Given the description of an element on the screen output the (x, y) to click on. 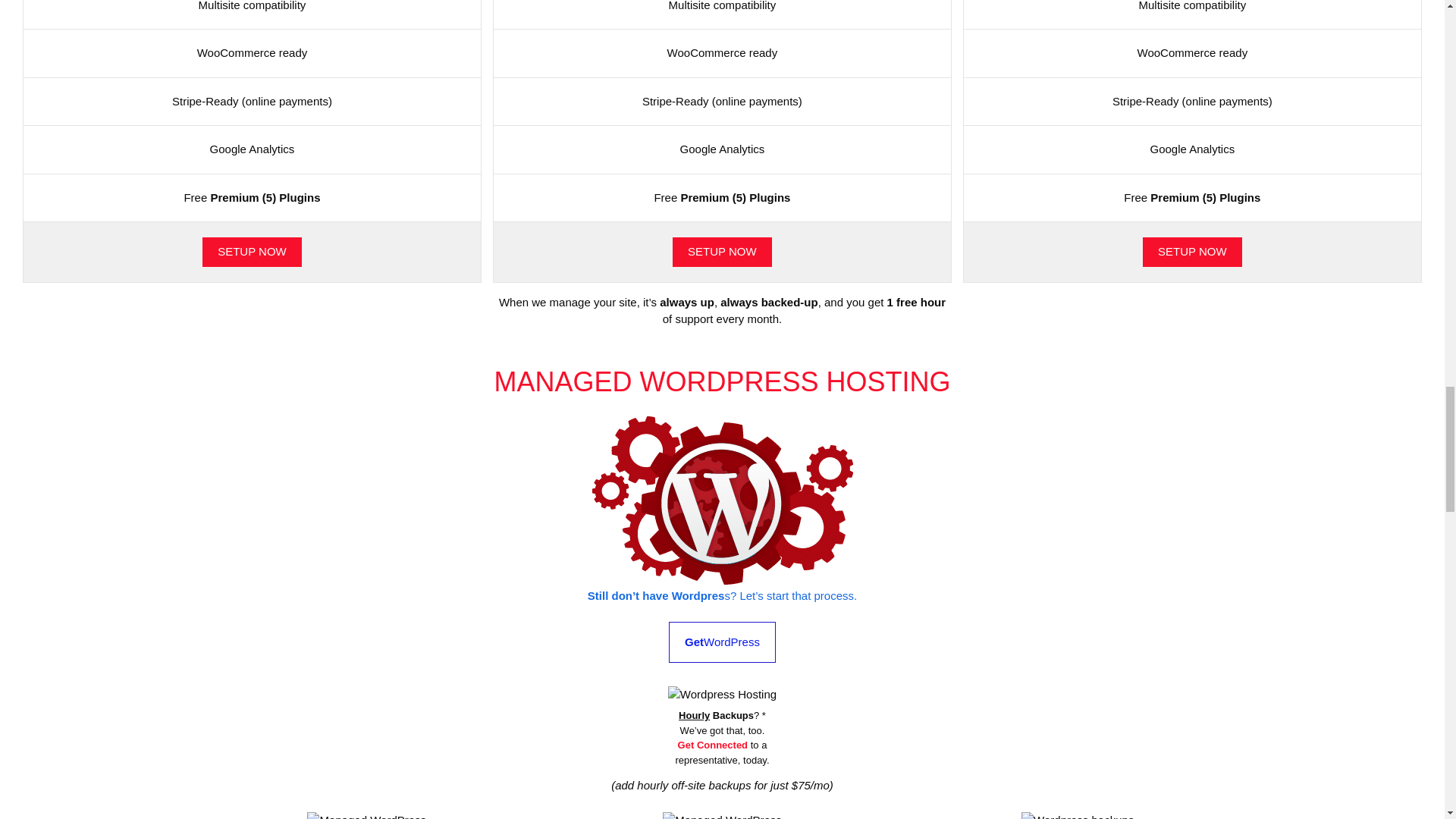
managed-wordpress (721, 815)
Get Connected (722, 642)
MANAGED WORDPRESS HOSTING (713, 745)
Wordpress-speed (721, 381)
SETUP NOW (366, 815)
SETUP NOW (251, 251)
google-cloud-platform (721, 251)
Managed WordPress Hosting (722, 694)
SETUP NOW (722, 500)
